Given the description of an element on the screen output the (x, y) to click on. 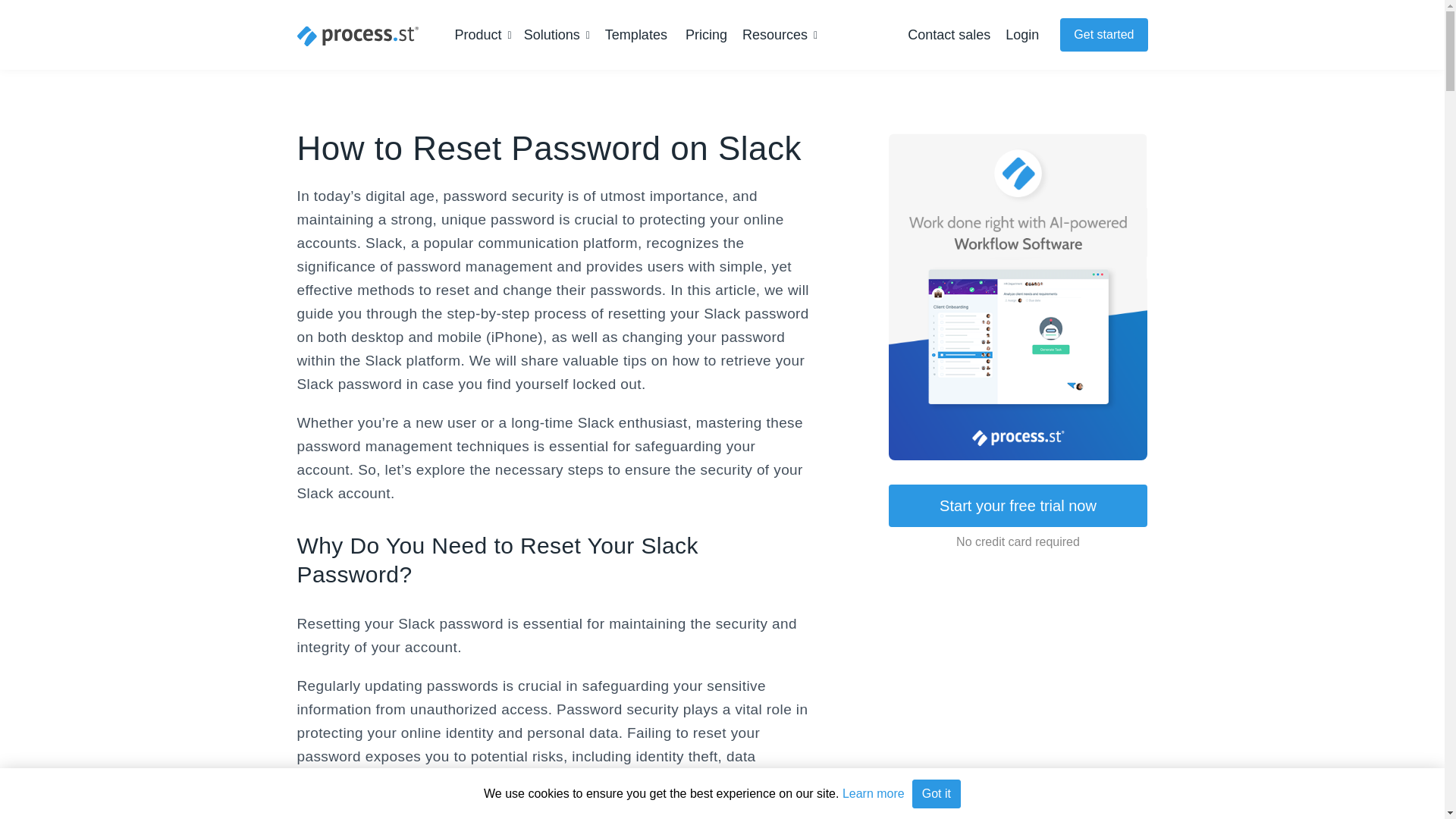
Pricing (705, 34)
Process Street (358, 35)
Resources (779, 34)
Contact sales (948, 34)
Get started (1103, 34)
Solutions (556, 34)
Templates (635, 34)
Product (483, 34)
Login (1022, 34)
